Given the description of an element on the screen output the (x, y) to click on. 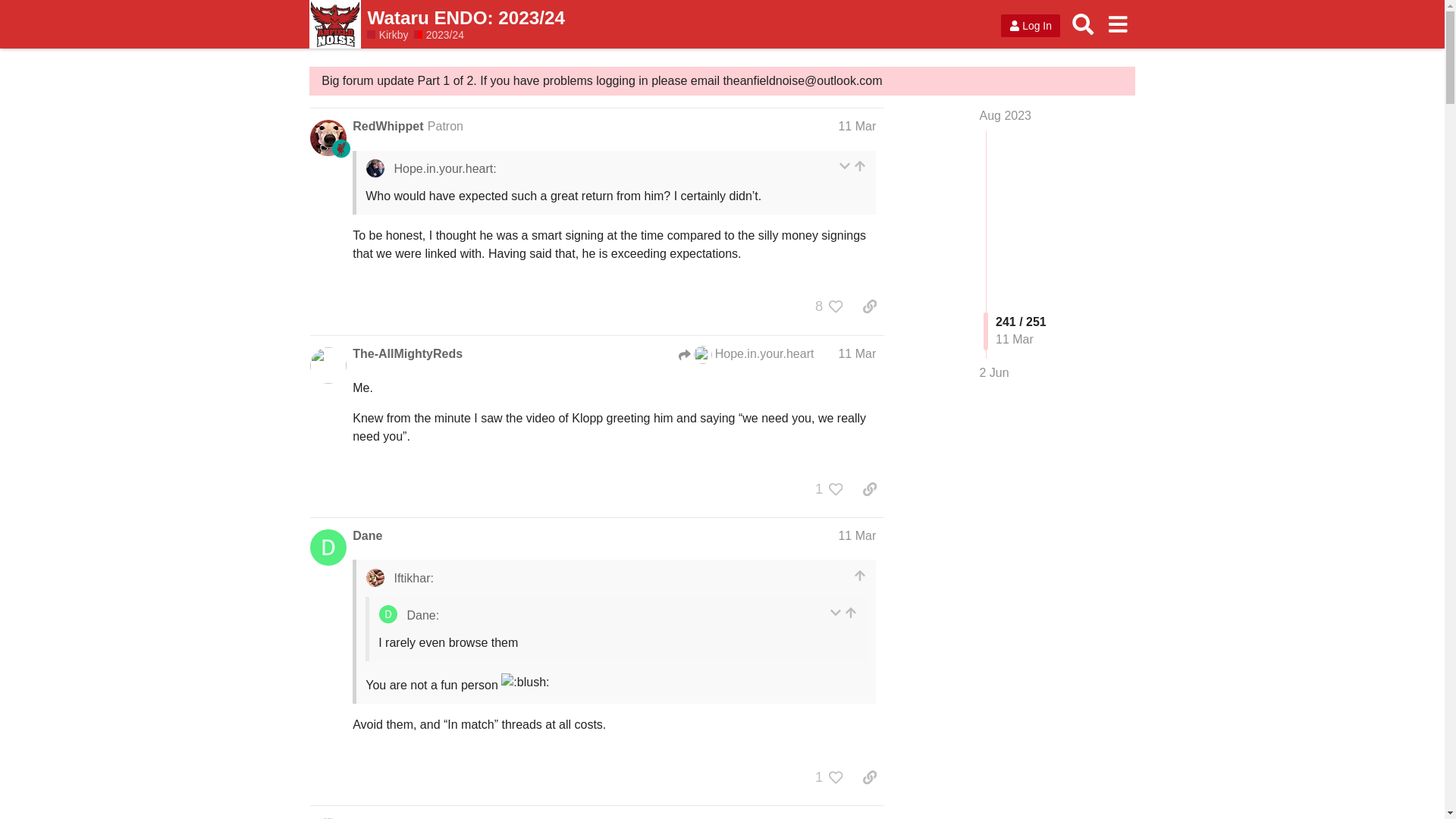
Zoran (368, 817)
11 Mar (857, 125)
2 Jun (994, 372)
Aug 2023 (1005, 115)
11 Mar (857, 818)
menu (1117, 23)
Hope.in.your.heart (702, 354)
Log In (1030, 25)
11 Mar (857, 353)
Post date (857, 125)
Aug 2023 (1005, 115)
Dane (366, 535)
copy a link to this post to clipboard (869, 306)
Post date (857, 353)
